Given the description of an element on the screen output the (x, y) to click on. 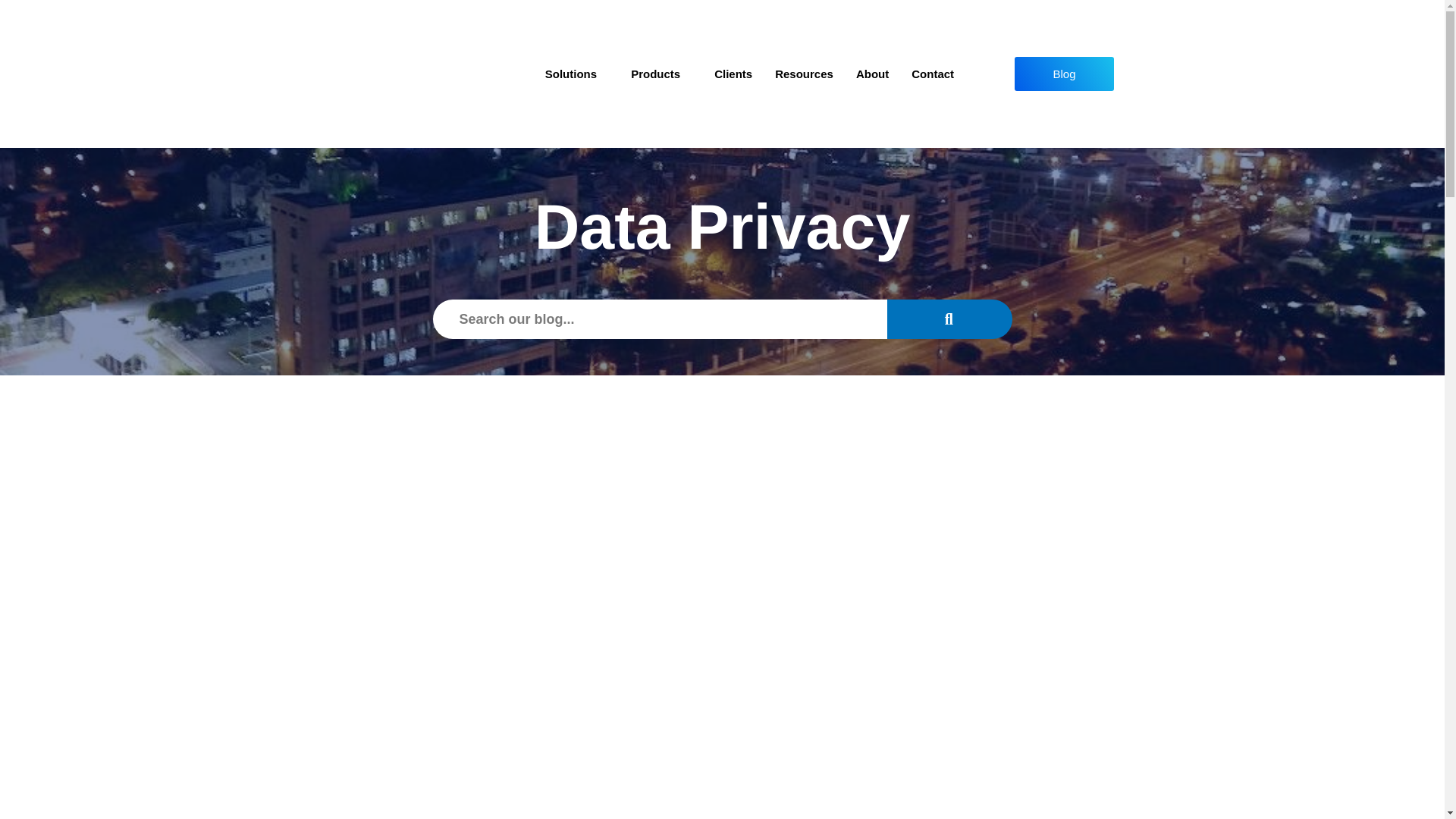
Products (661, 74)
About (871, 74)
Search (659, 319)
Blog (1063, 73)
Solutions (577, 74)
Contact (932, 74)
Clients (732, 74)
Resources (803, 74)
